Given the description of an element on the screen output the (x, y) to click on. 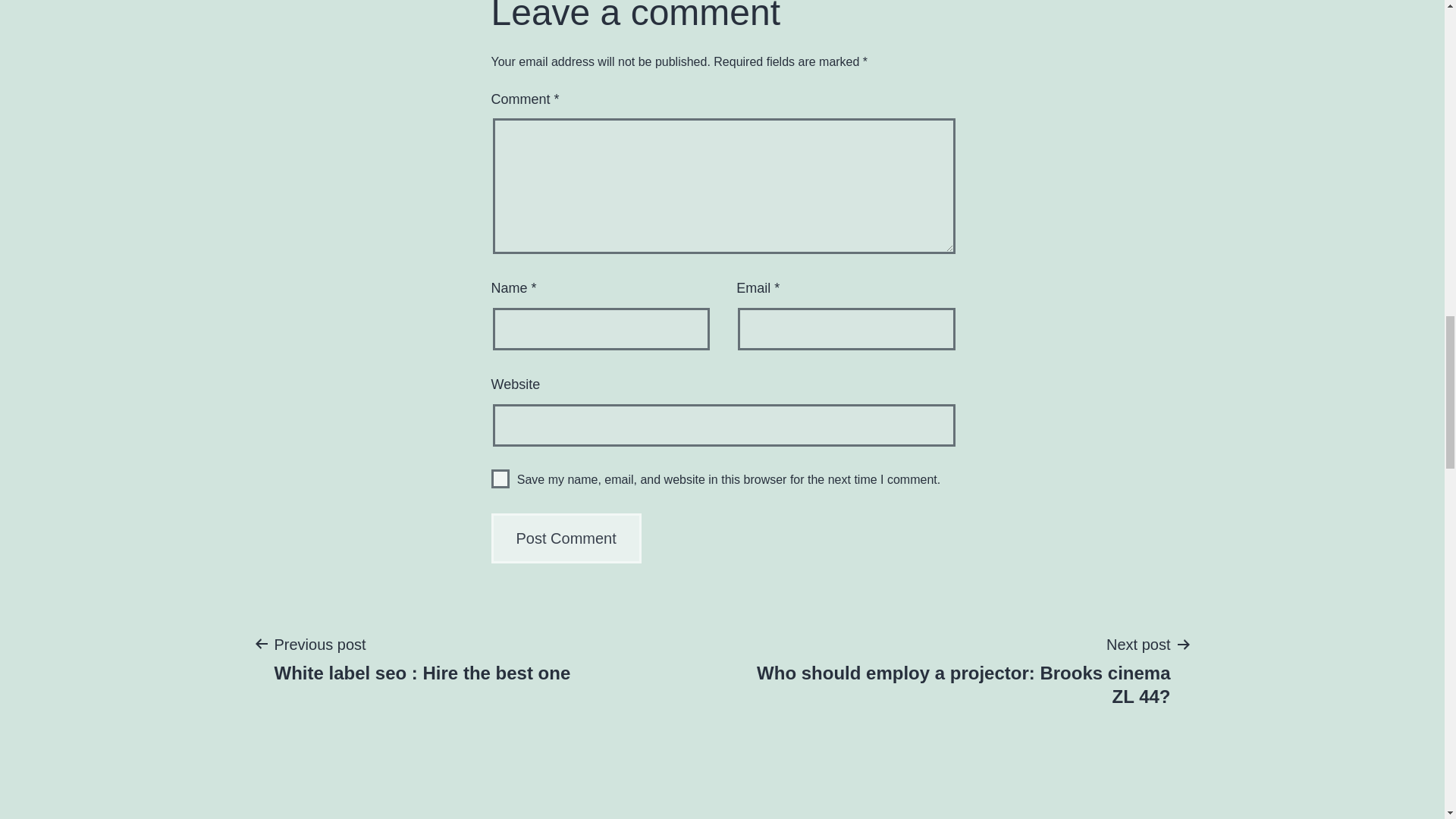
yes (500, 478)
Post Comment (567, 538)
Post Comment (421, 657)
